Given the description of an element on the screen output the (x, y) to click on. 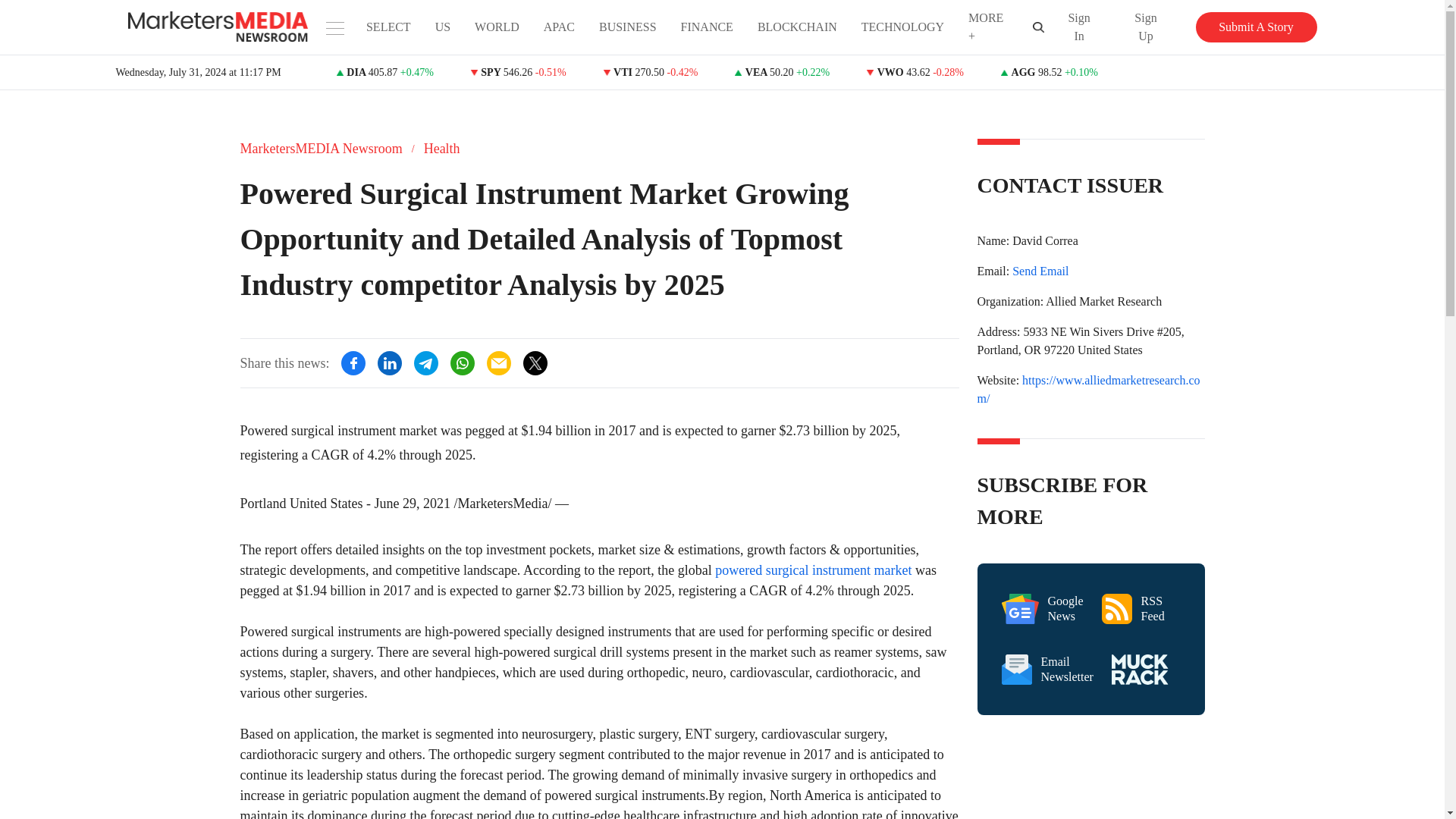
BUSINESS (627, 26)
Sign Up (1160, 27)
MarketersMEDIA Newsroom (320, 148)
WORLD (496, 26)
Send Email (1039, 270)
SELECT (388, 26)
Sign In (1079, 27)
Health (441, 148)
Sign Up (1146, 27)
TECHNOLOGY (902, 26)
Submit A Story (1042, 608)
powered surgical instrument market (1255, 27)
Sign In (812, 570)
